Given the description of an element on the screen output the (x, y) to click on. 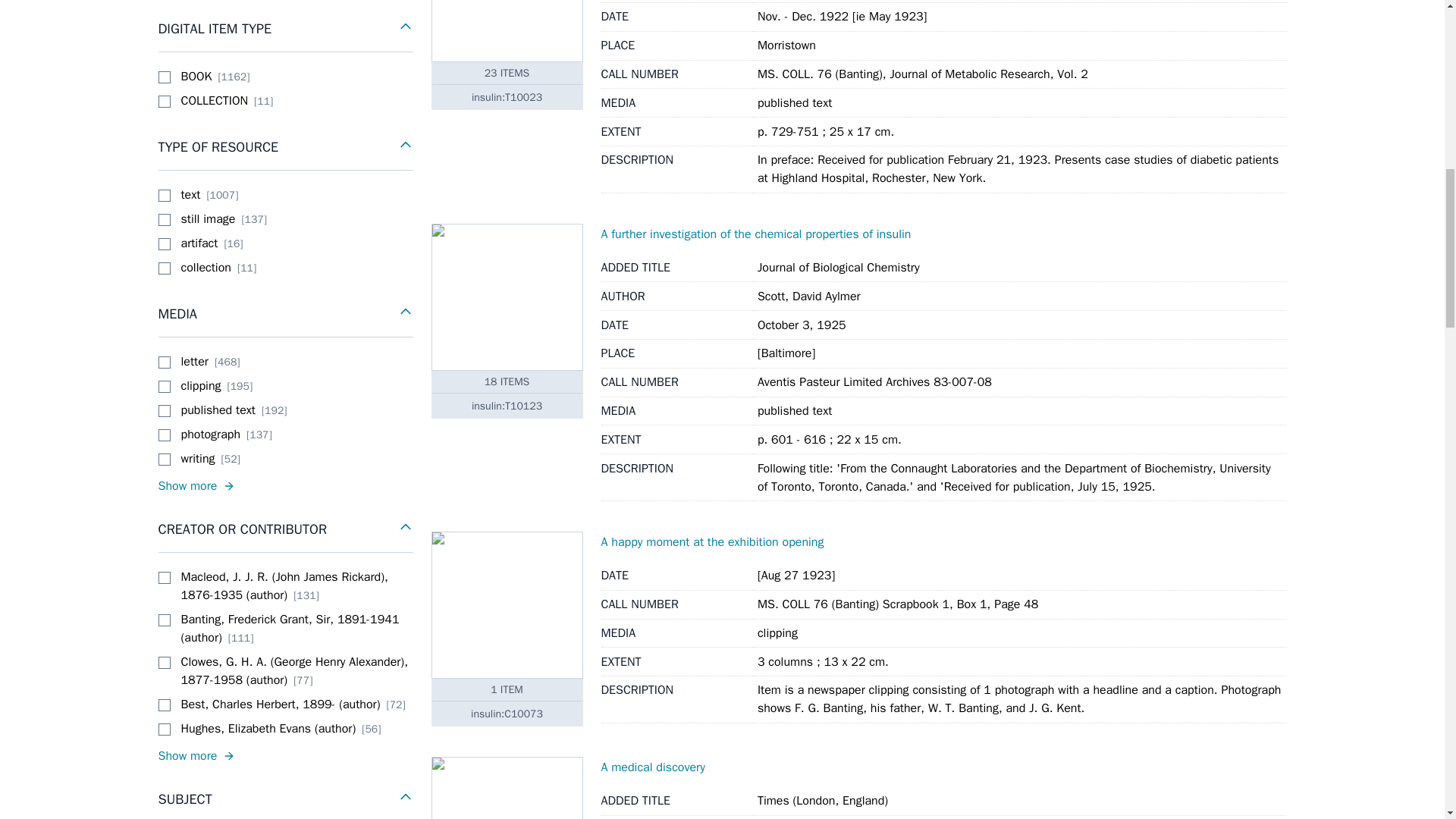
TYPE OF RESOURCE (284, 147)
on (163, 101)
Digital Identifier: insulin:T10123 (506, 405)
on (163, 435)
Digital Identifier: insulin:T10023 (506, 96)
on (163, 386)
CREATOR OR CONTRIBUTOR (284, 529)
on (163, 195)
on (163, 362)
Digital Identifier: insulin:C10073 (506, 713)
Show more (284, 485)
on (163, 268)
on (163, 459)
Show more (284, 755)
MEDIA (284, 314)
